Given the description of an element on the screen output the (x, y) to click on. 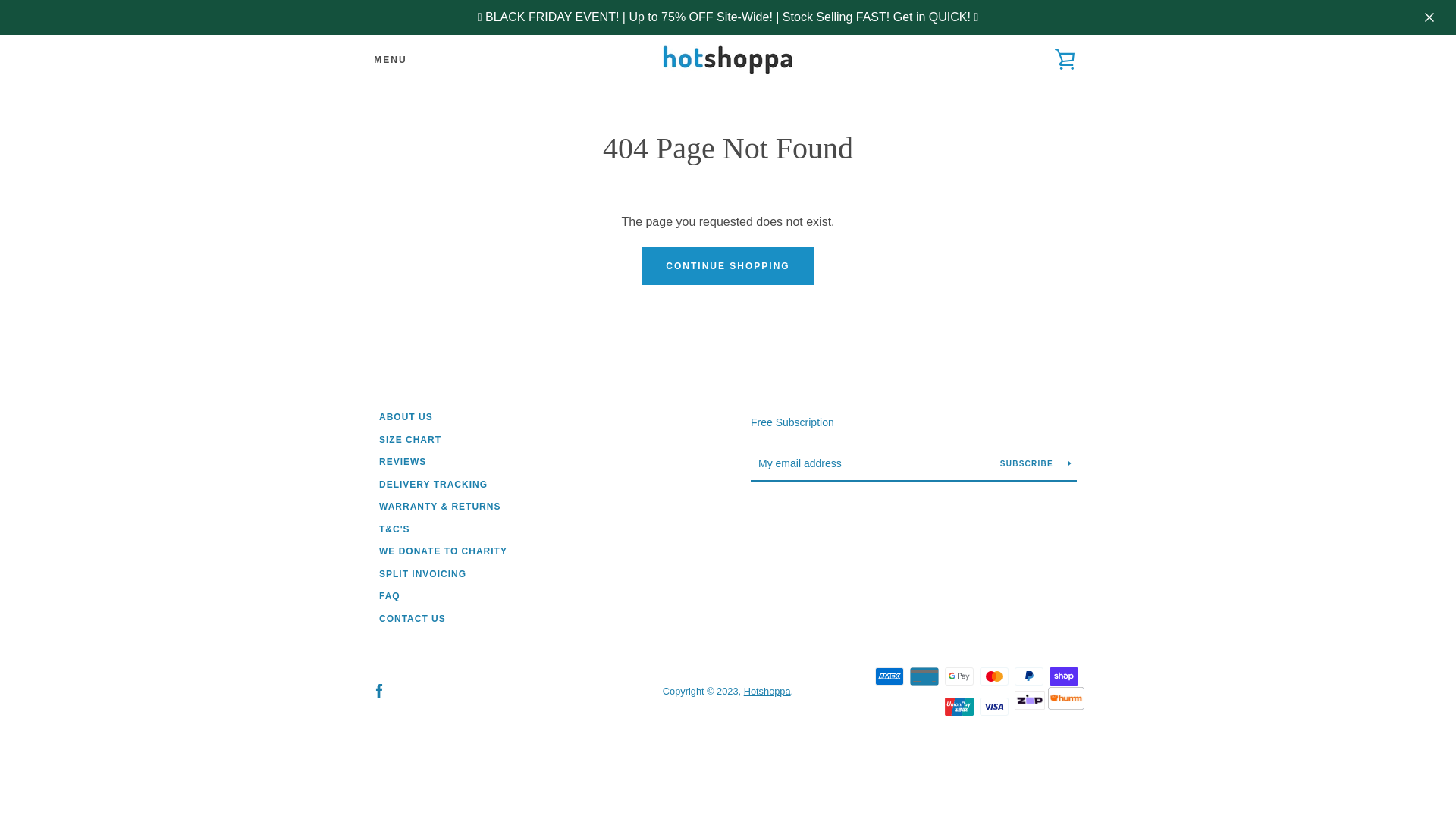
CONTINUE SHOPPING Element type: text (727, 266)
ABOUT US Element type: text (406, 416)
Facebook Element type: text (378, 690)
WARRANTY & RETURNS Element type: text (439, 506)
DELIVERY TRACKING Element type: text (433, 484)
Hotshoppa Element type: text (766, 690)
VIEW CART Element type: text (1065, 59)
Skip to content Element type: text (0, 0)
SIZE CHART Element type: text (410, 439)
CONTACT US Element type: text (412, 618)
SUBSCRIBE Element type: text (1035, 463)
REVIEWS Element type: text (402, 461)
FAQ Element type: text (389, 595)
WE DONATE TO CHARITY Element type: text (443, 551)
T&C'S Element type: text (394, 529)
MENU
MENU Element type: text (390, 59)
SPLIT INVOICING Element type: text (422, 573)
